Given the description of an element on the screen output the (x, y) to click on. 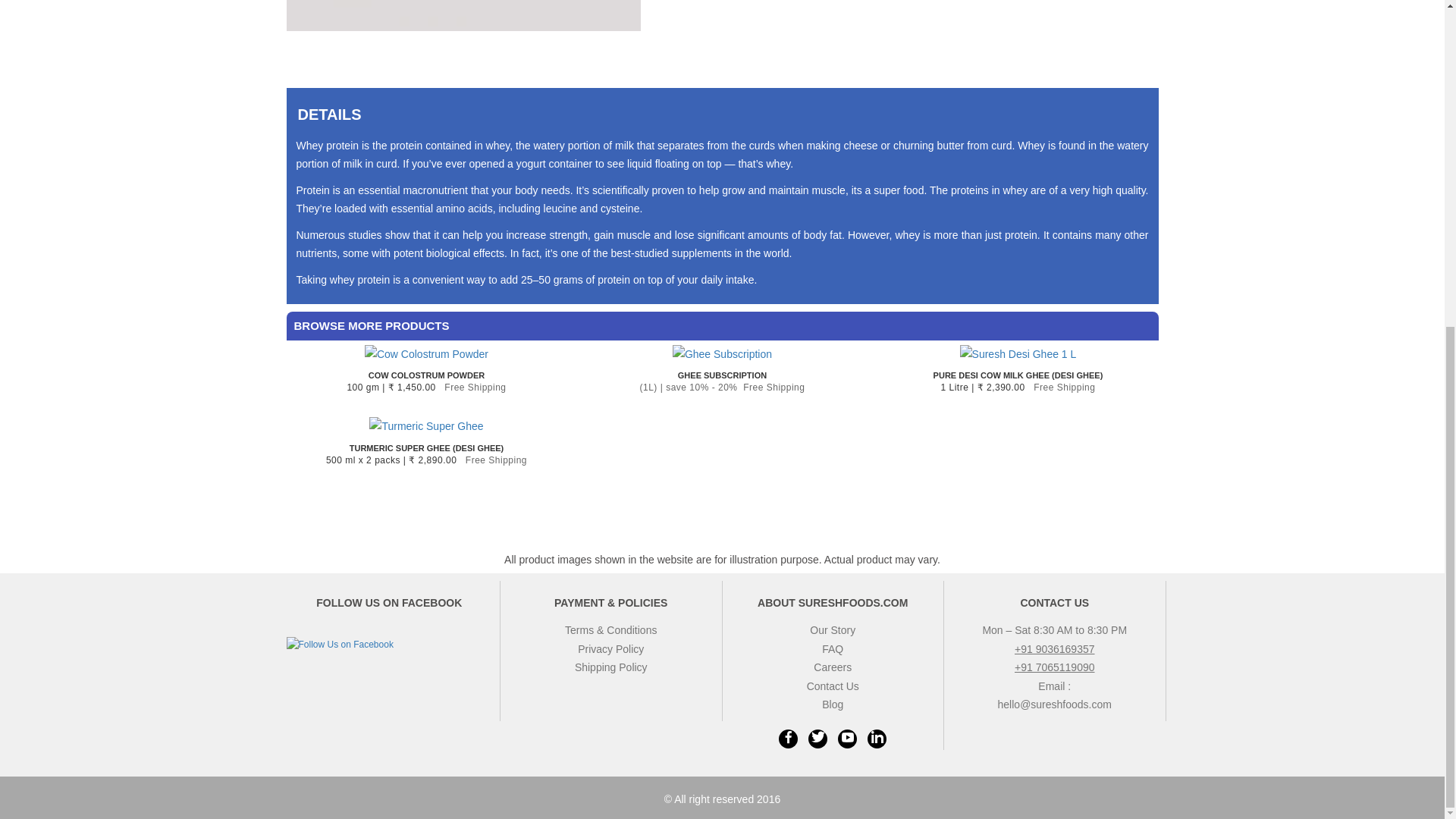
Our Story (832, 630)
linkedin (876, 738)
Facebook (787, 738)
Contact Us (832, 686)
Follow Us on Facebook (339, 644)
COW COLOSTRUM POWDER (426, 375)
Shipping Policy (611, 666)
Contact Us (1054, 603)
FAQ (832, 648)
Privacy Policy (610, 648)
Blog (832, 704)
Twitter (817, 738)
FAQ (832, 648)
Whey-protien (464, 15)
Careers (832, 666)
